Given the description of an element on the screen output the (x, y) to click on. 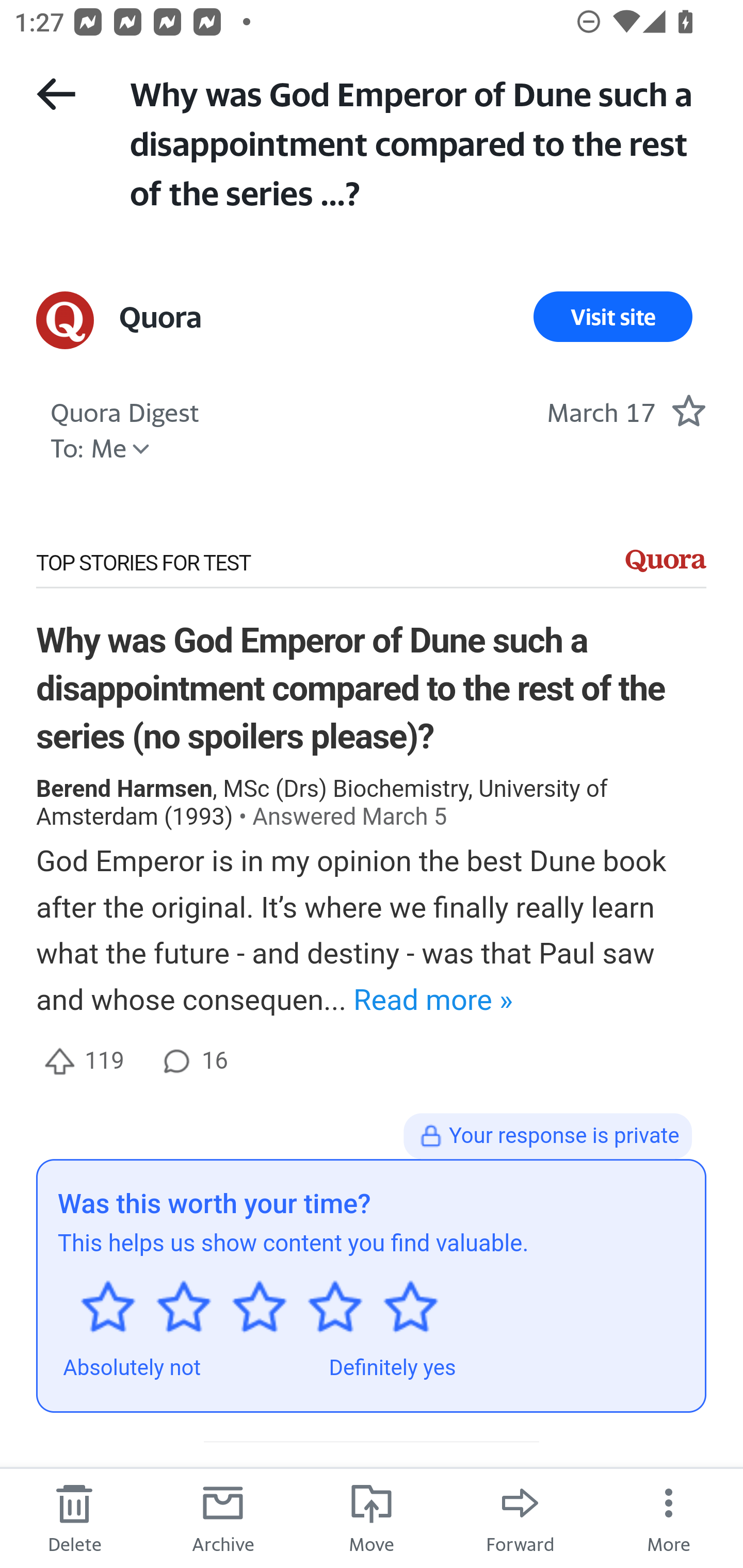
Back (55, 93)
View all messages from sender (64, 320)
Visit site Visit Site Link (612, 316)
Quora Sender Quora (160, 316)
Quora Digest Sender Quora Digest (124, 410)
Mark as starred. (688, 410)
Quora (665, 561)
Answered March 5 (350, 816)
Upvote (58, 1061)
Comment (176, 1061)
lock (430, 1135)
Delete (74, 1517)
Archive (222, 1517)
Move (371, 1517)
Forward (519, 1517)
More (668, 1517)
